Given the description of an element on the screen output the (x, y) to click on. 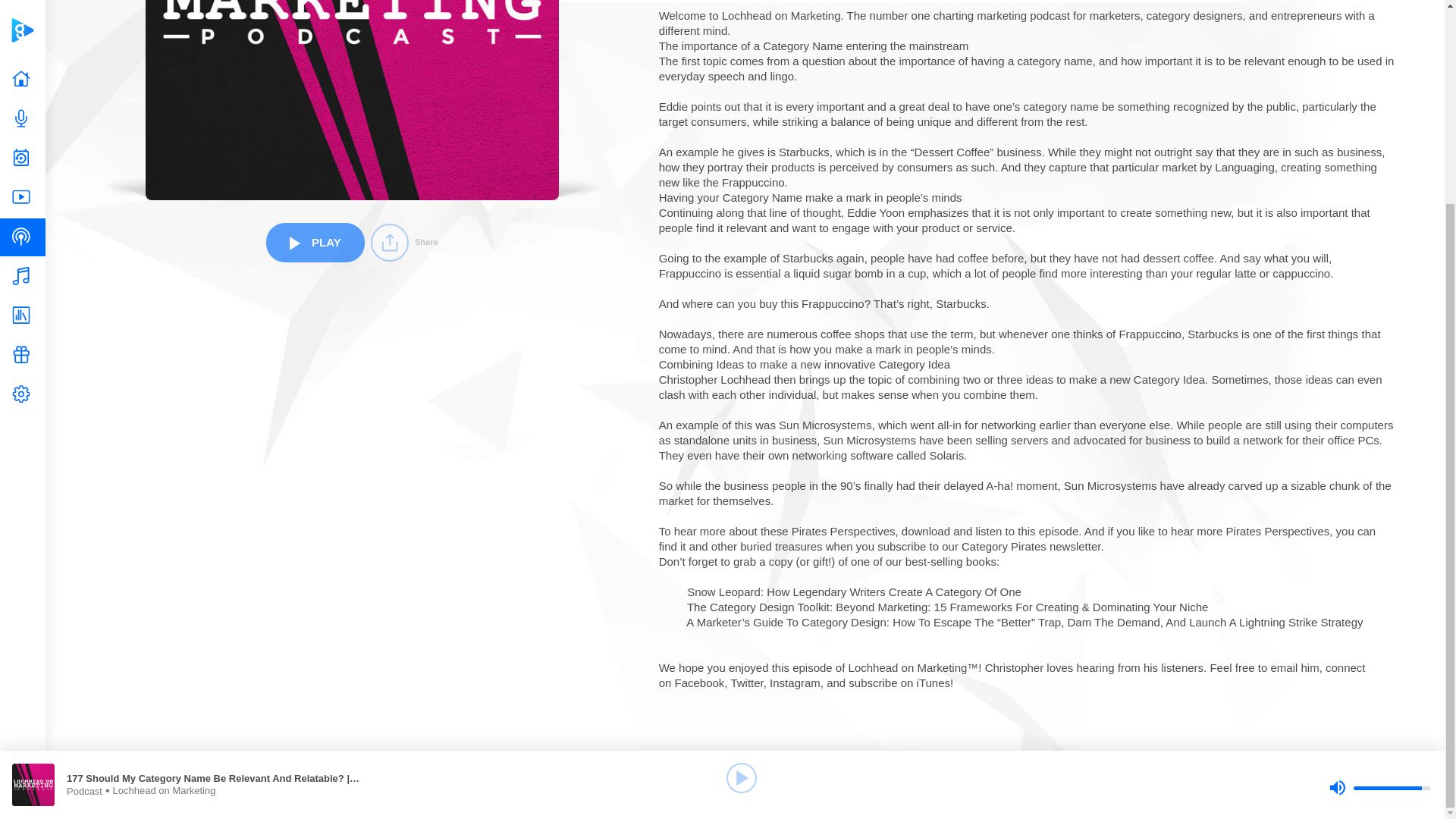
Share (404, 242)
Play (741, 516)
Mute (1336, 526)
Share (404, 242)
PLAY (315, 241)
